Given the description of an element on the screen output the (x, y) to click on. 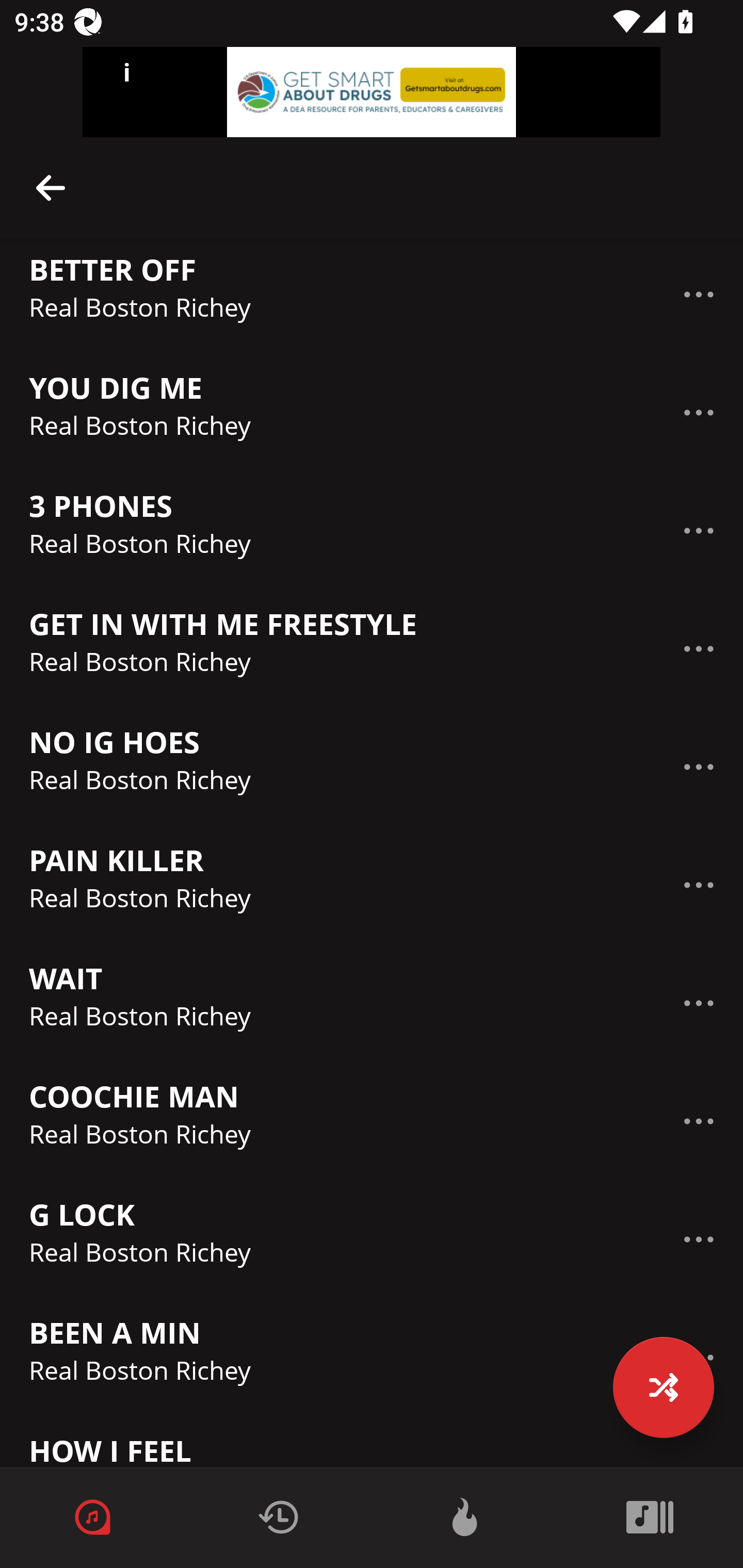
ALRIGHT Real Boston Richey Description (371, 186)
Description (50, 187)
BETTER OFF Real Boston Richey Description (371, 293)
Description (698, 294)
YOU DIG ME Real Boston Richey Description (371, 411)
Description (698, 412)
3 PHONES Real Boston Richey Description (371, 530)
Description (698, 530)
Description (698, 649)
NO IG HOES Real Boston Richey Description (371, 766)
Description (698, 766)
PAIN KILLER Real Boston Richey Description (371, 884)
Description (698, 884)
WAIT Real Boston Richey Description (371, 1002)
Description (698, 1003)
COOCHIE MAN Real Boston Richey Description (371, 1120)
Description (698, 1121)
G LOCK Real Boston Richey Description (371, 1239)
Description (698, 1239)
BEEN A MIN Real Boston Richey Description (371, 1356)
